Given the description of an element on the screen output the (x, y) to click on. 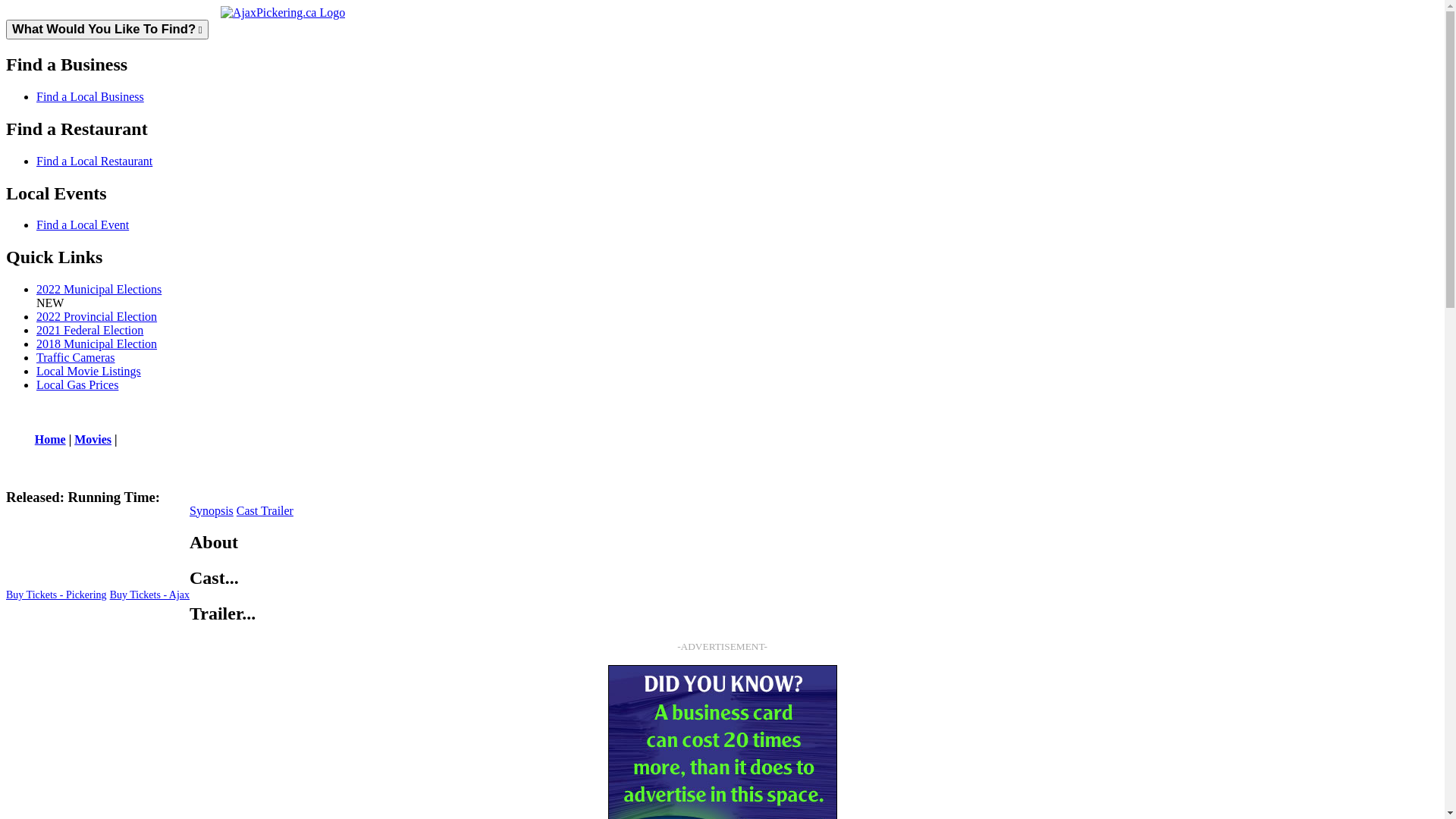
Local Movie Listings Element type: text (88, 370)
Find a Local Business Element type: text (90, 96)
Find a Local Restaurant Element type: text (94, 160)
AjaxPickering.ca Element type: hover (282, 12)
2018 Municipal Election Element type: text (96, 343)
Buy Tickets - Ajax Element type: text (149, 595)
Movies Element type: text (92, 439)
Traffic Cameras Element type: text (75, 357)
Cast Element type: text (248, 510)
2022 Municipal Elections Element type: text (98, 288)
2022 Provincial Election Element type: text (96, 316)
Find a Local Event Element type: text (82, 224)
Home Element type: text (49, 439)
Buy Tickets - Pickering Element type: text (56, 595)
Trailer Element type: text (276, 510)
2021 Federal Election Element type: text (89, 329)
Synopsis Element type: text (211, 510)
Local Gas Prices Element type: text (77, 384)
